Given the description of an element on the screen output the (x, y) to click on. 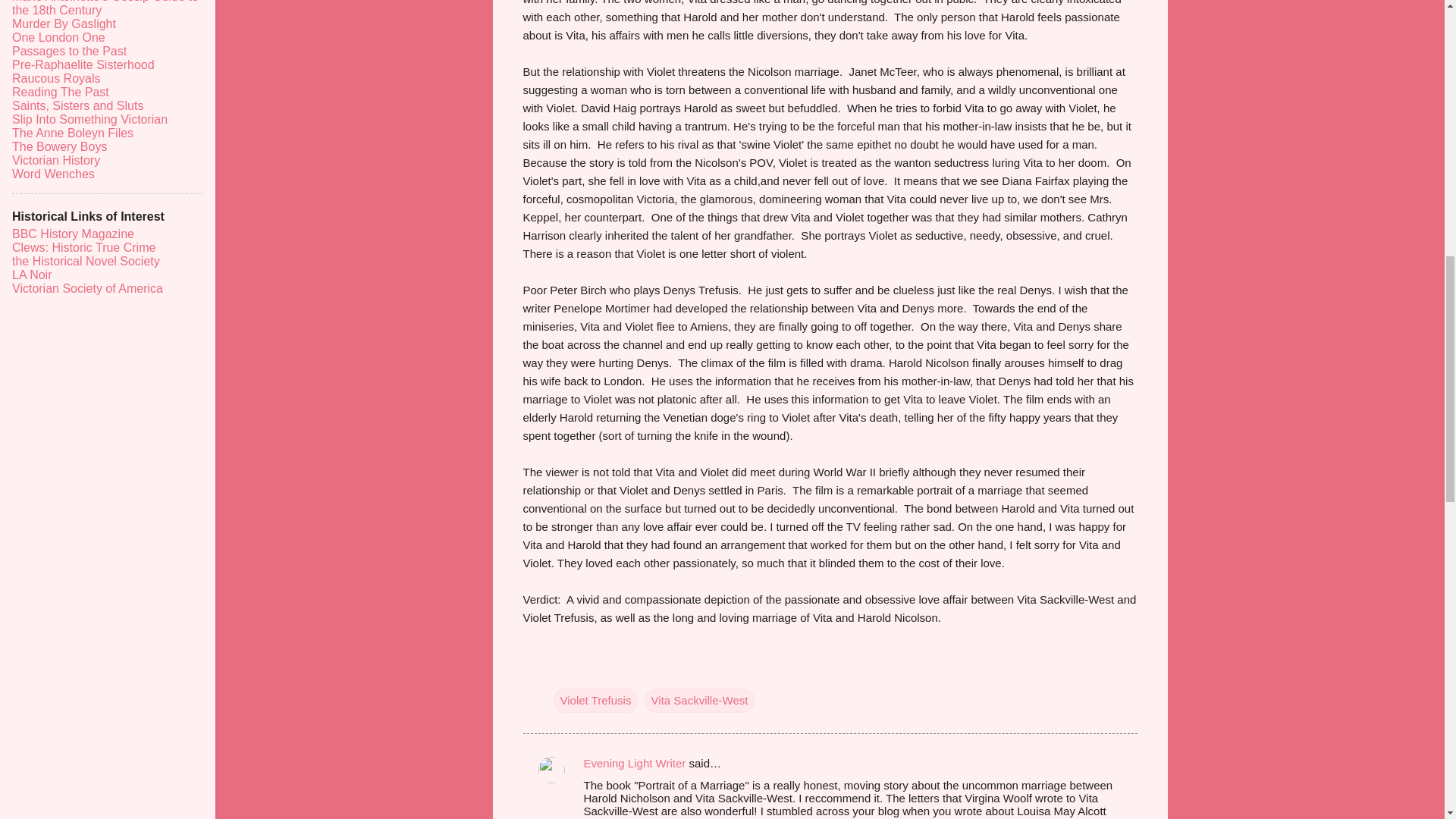
Vita Sackville-West (700, 700)
Evening Light Writer (634, 762)
Violet Trefusis (596, 700)
Email Post (562, 668)
